Given the description of an element on the screen output the (x, y) to click on. 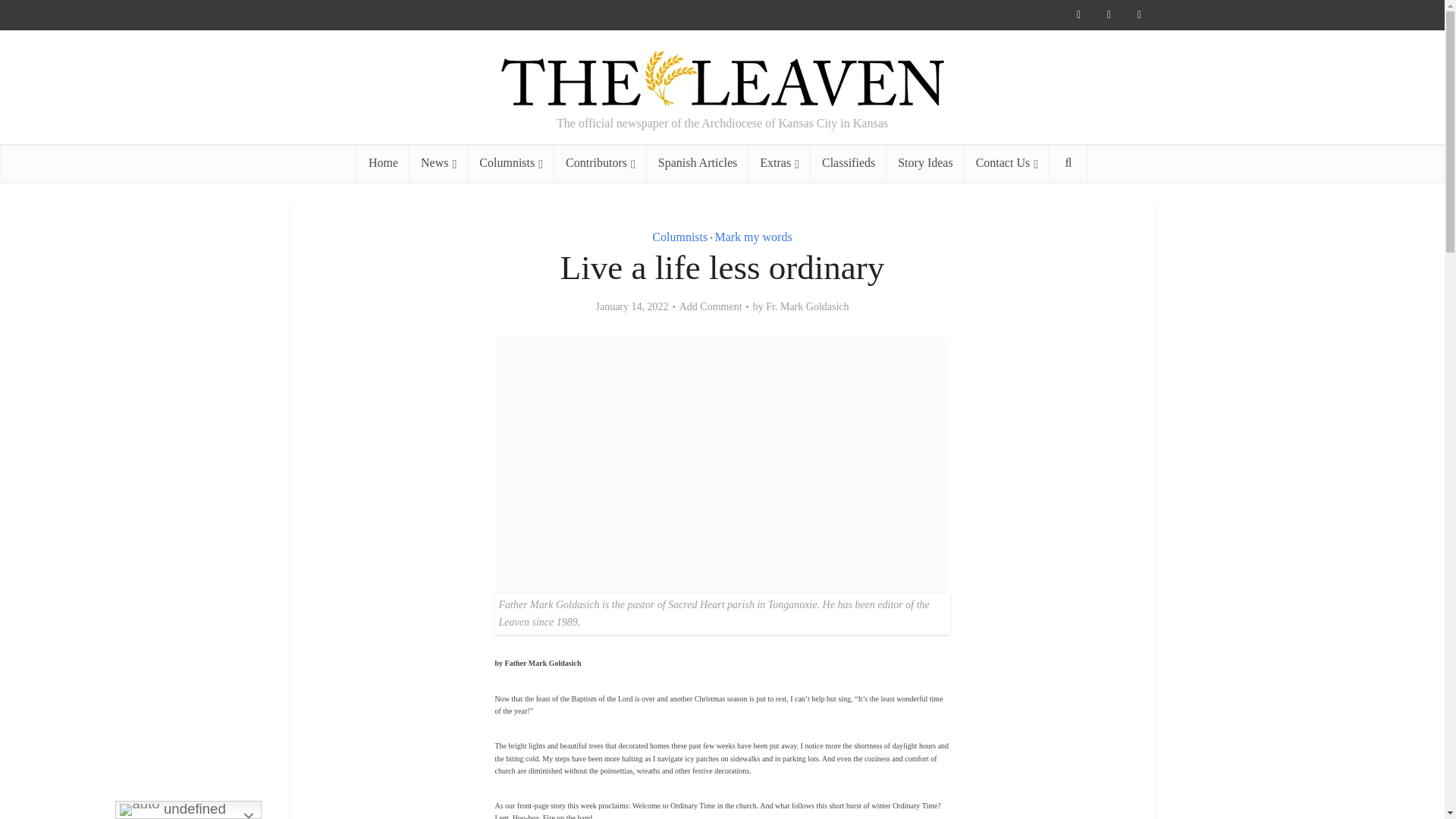
Columnists (510, 162)
News (438, 162)
Contributors (600, 162)
Extras (779, 162)
Home (382, 162)
Classifieds (848, 162)
None (438, 162)
Spanish Articles (697, 162)
